Given the description of an element on the screen output the (x, y) to click on. 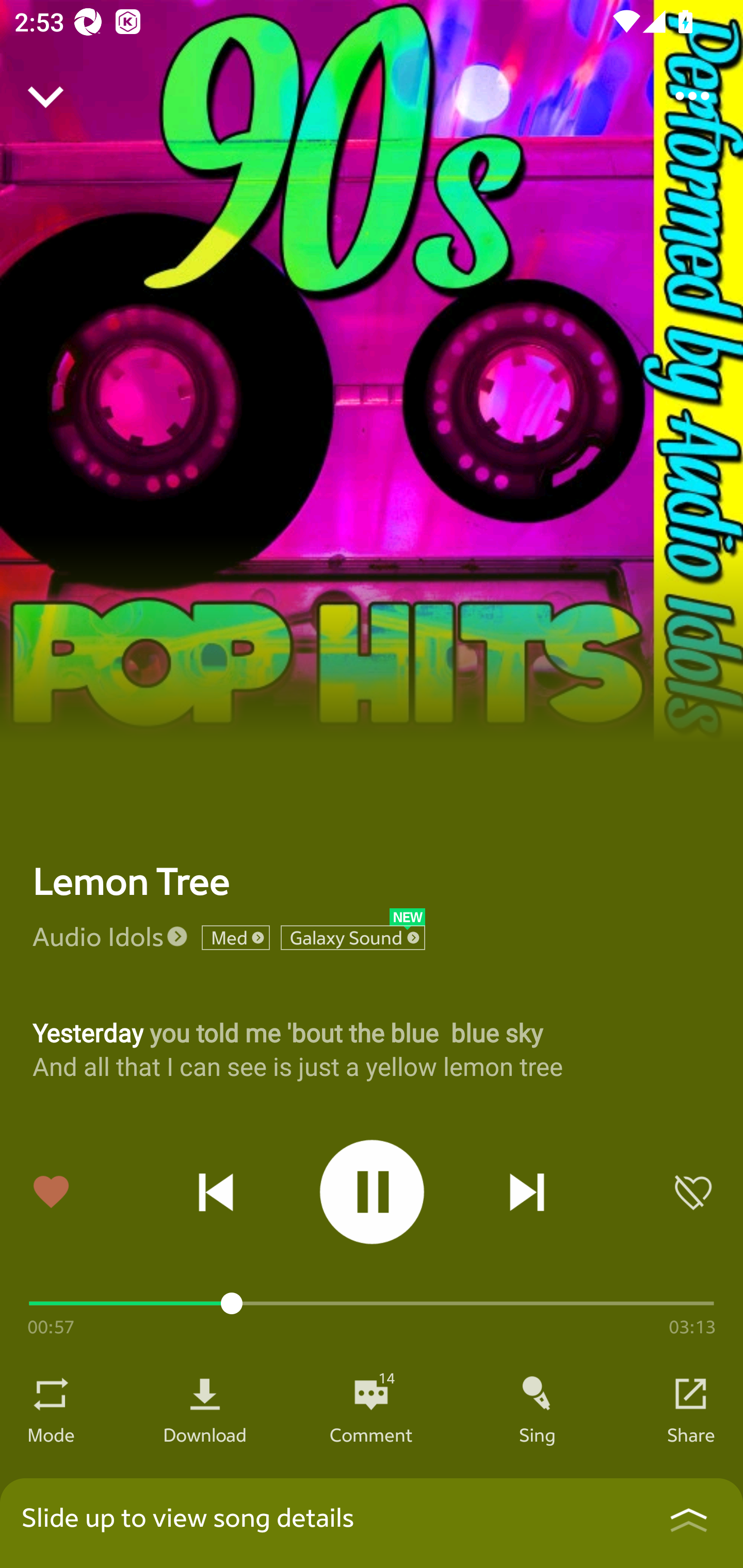
Lemon Tree (131, 881)
Audio Idols (97, 935)
Med (235, 937)
Galaxy Sound (352, 937)
14 (371, 1393)
Mode (51, 1434)
Download (204, 1434)
Comment (370, 1434)
Sing (537, 1434)
Share (691, 1434)
Slide up to view song details (371, 1523)
